Given the description of an element on the screen output the (x, y) to click on. 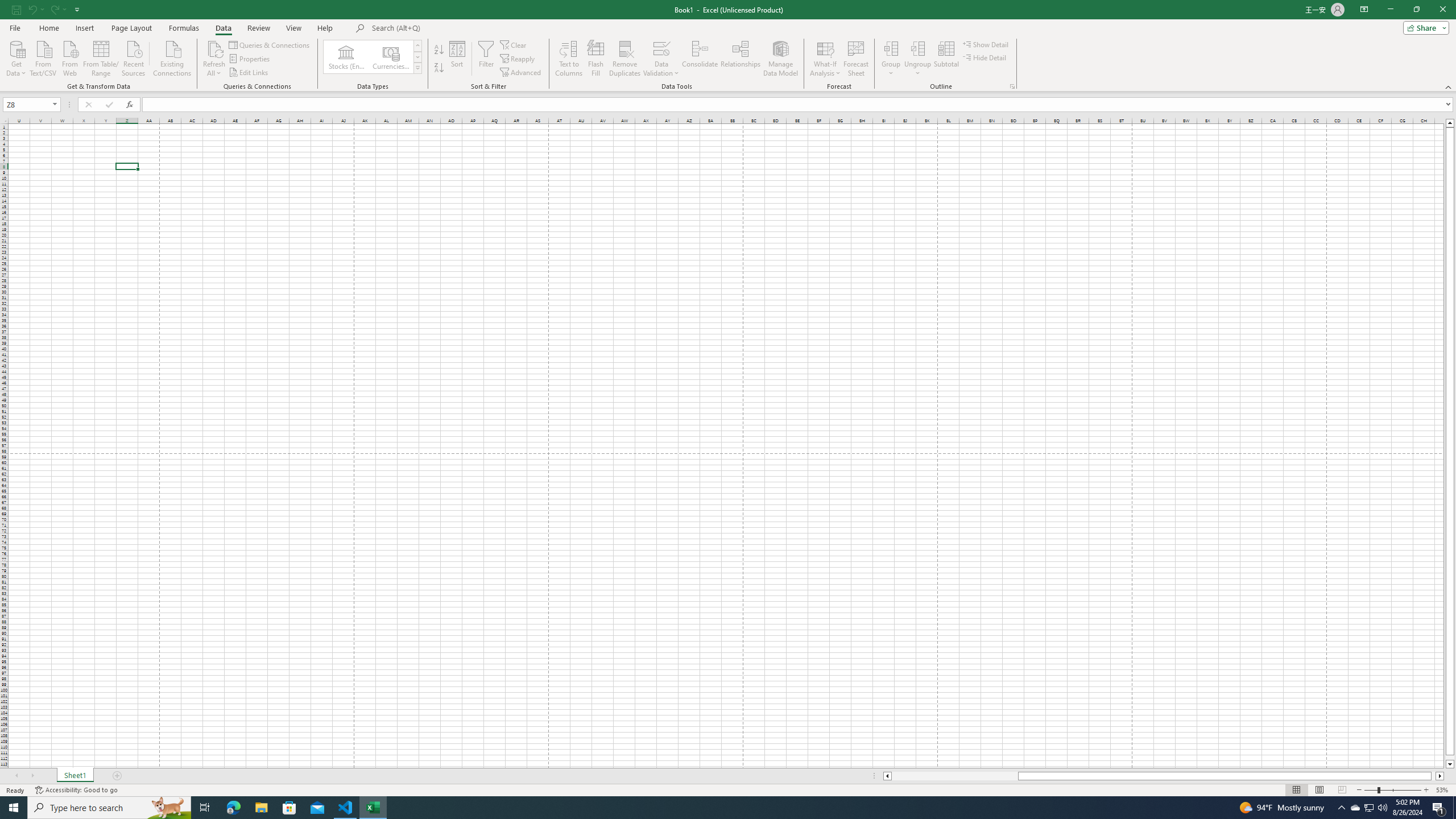
What-If Analysis (825, 58)
Review (258, 28)
Scroll Left (16, 775)
Page Break Preview (1342, 790)
Microsoft search (450, 28)
Properties (250, 58)
Group... (890, 48)
Line up (1449, 122)
Clear (513, 44)
Forecast Sheet (856, 58)
Class: MsoCommandBar (728, 45)
Data Types (417, 67)
Data Validation... (661, 48)
